Given the description of an element on the screen output the (x, y) to click on. 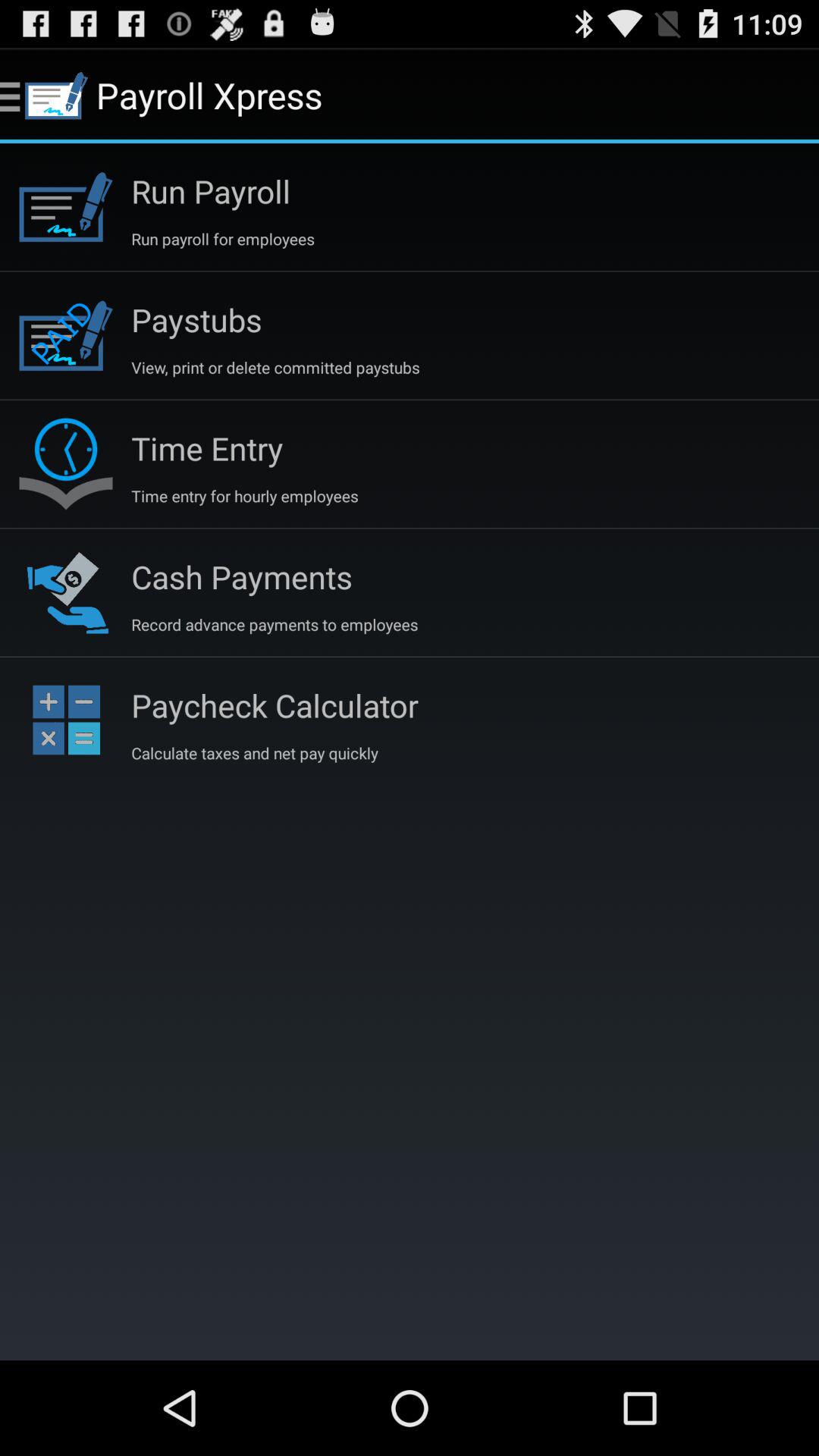
turn on the view print or (275, 367)
